Given the description of an element on the screen output the (x, y) to click on. 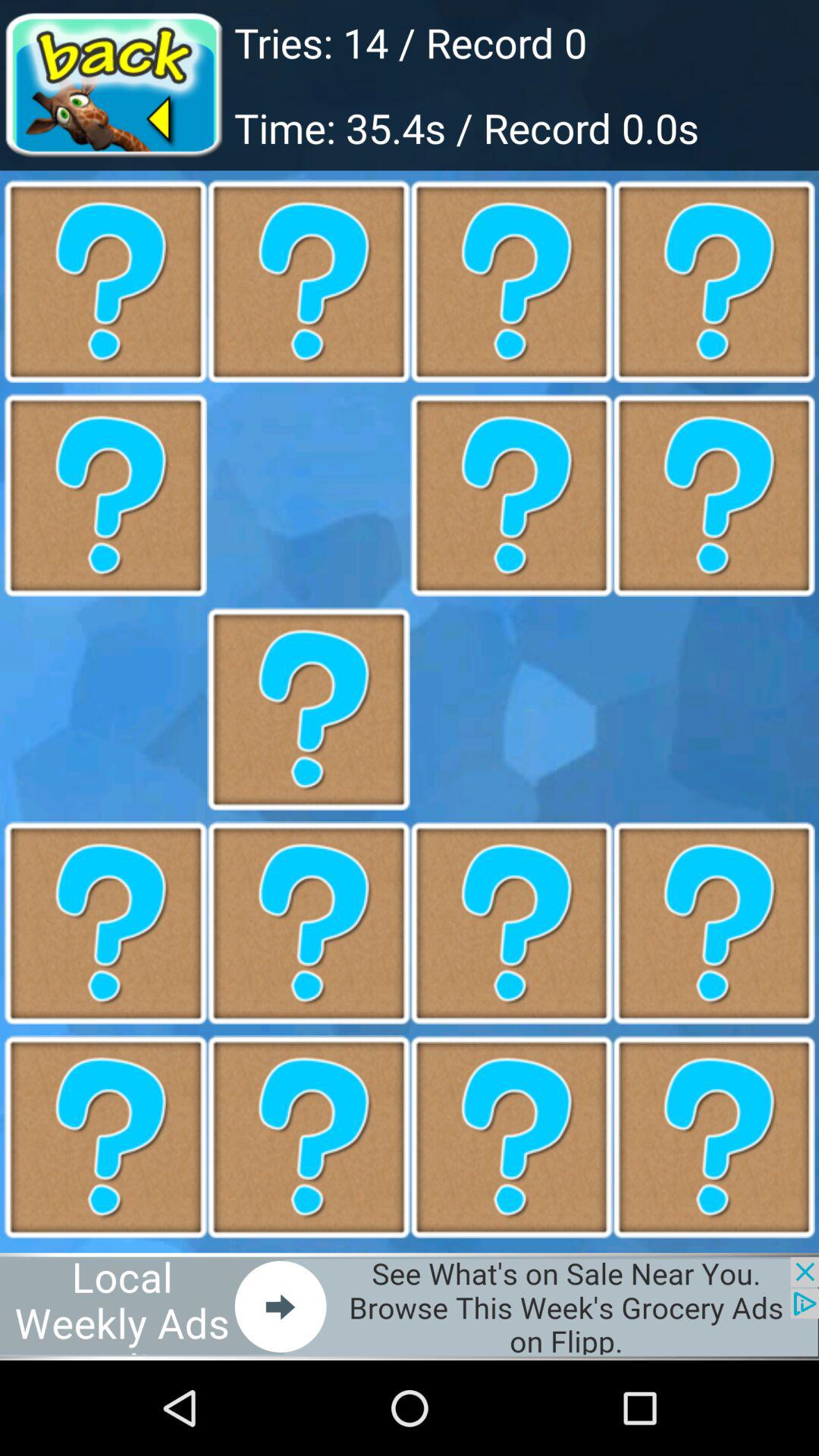
go back (117, 85)
